Given the description of an element on the screen output the (x, y) to click on. 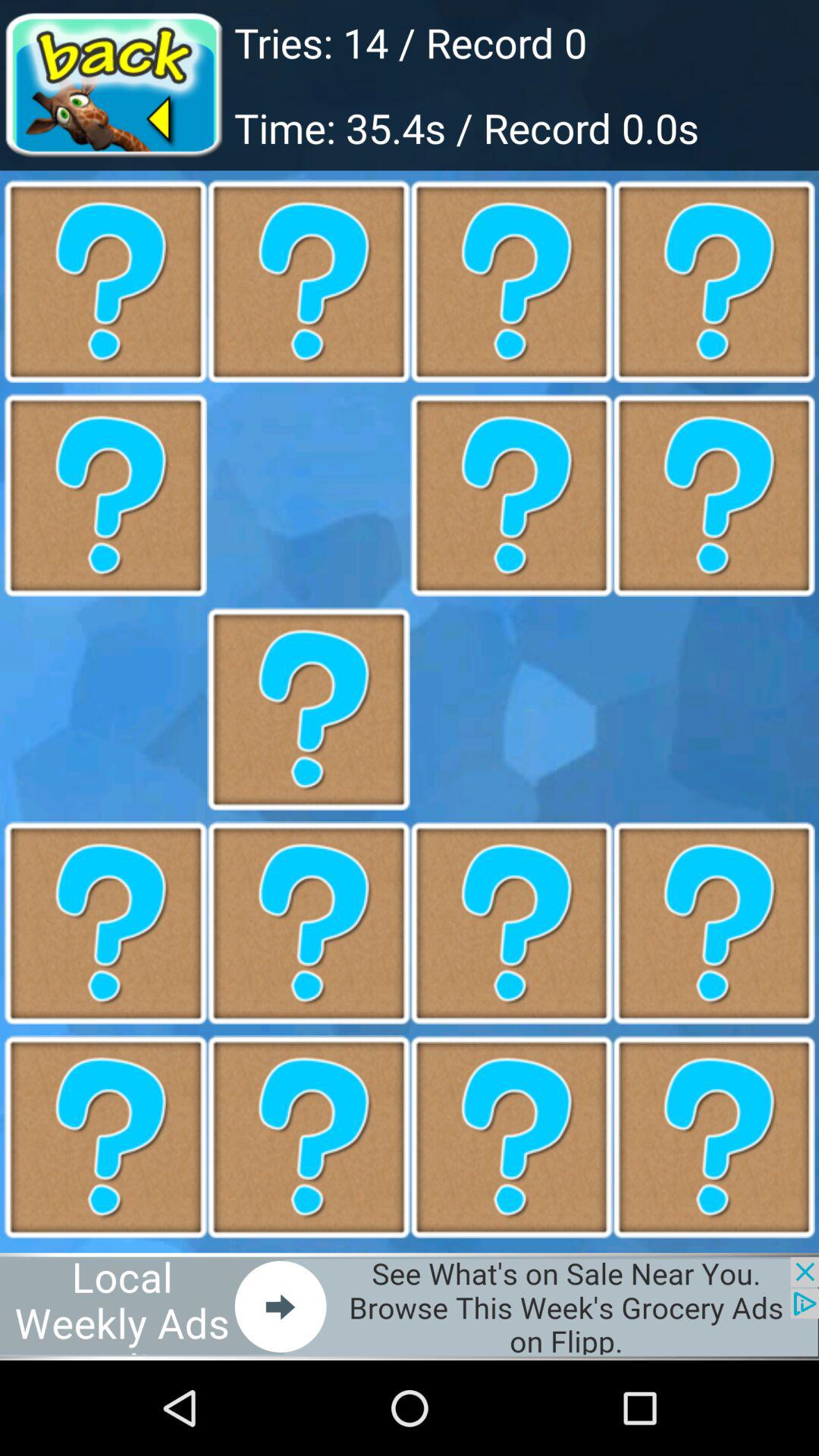
go back (117, 85)
